Given the description of an element on the screen output the (x, y) to click on. 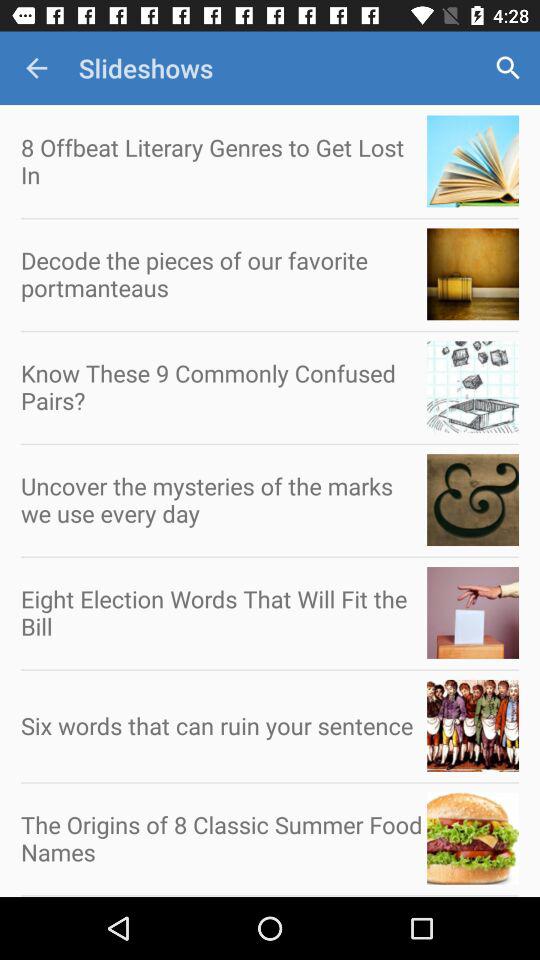
tap the icon above the 8 offbeat literary icon (36, 68)
